Given the description of an element on the screen output the (x, y) to click on. 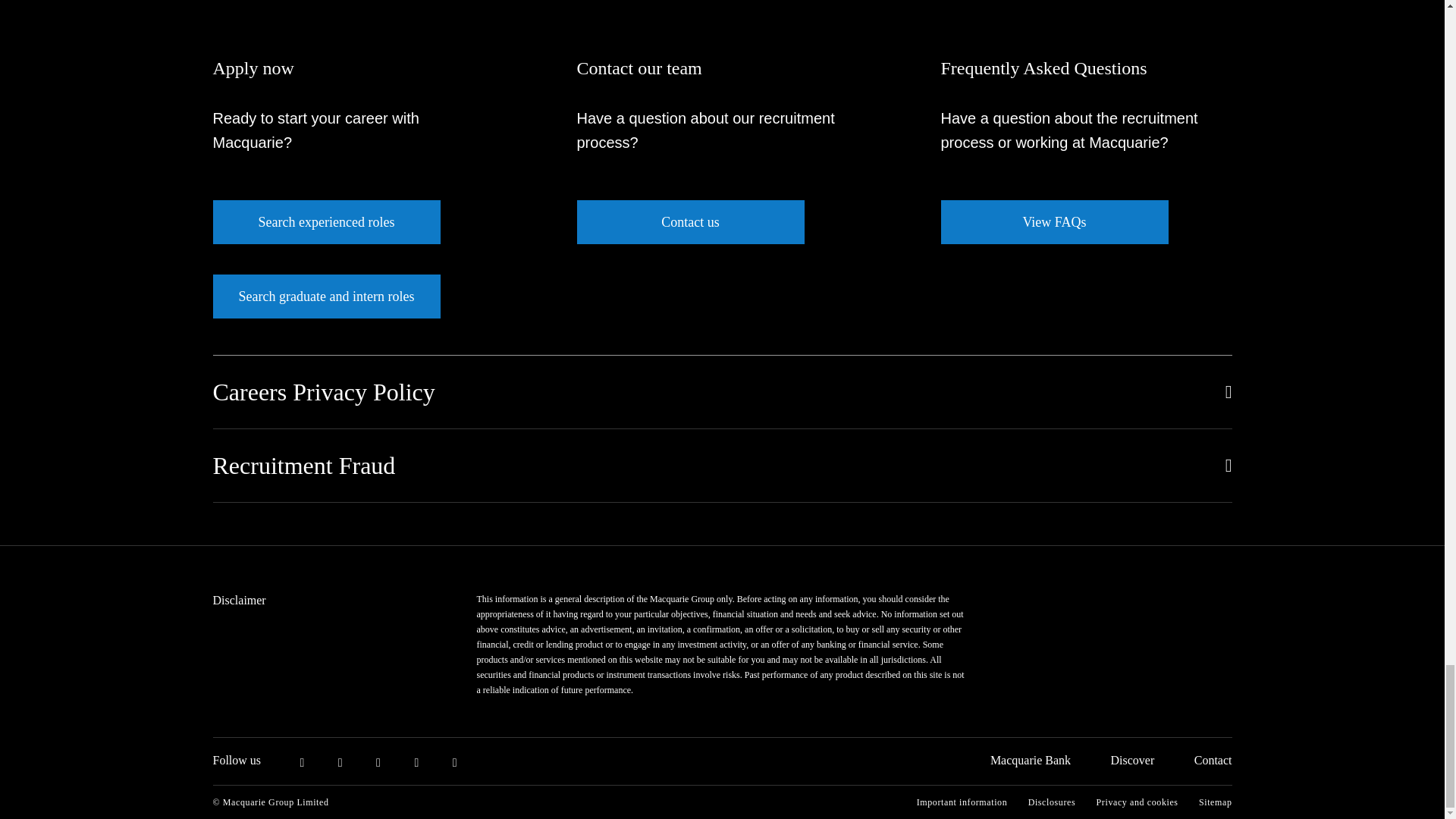
Search graduate and intern roles (325, 296)
View FAQs (1053, 221)
Search experienced roles (325, 221)
Contact us (689, 221)
